Given the description of an element on the screen output the (x, y) to click on. 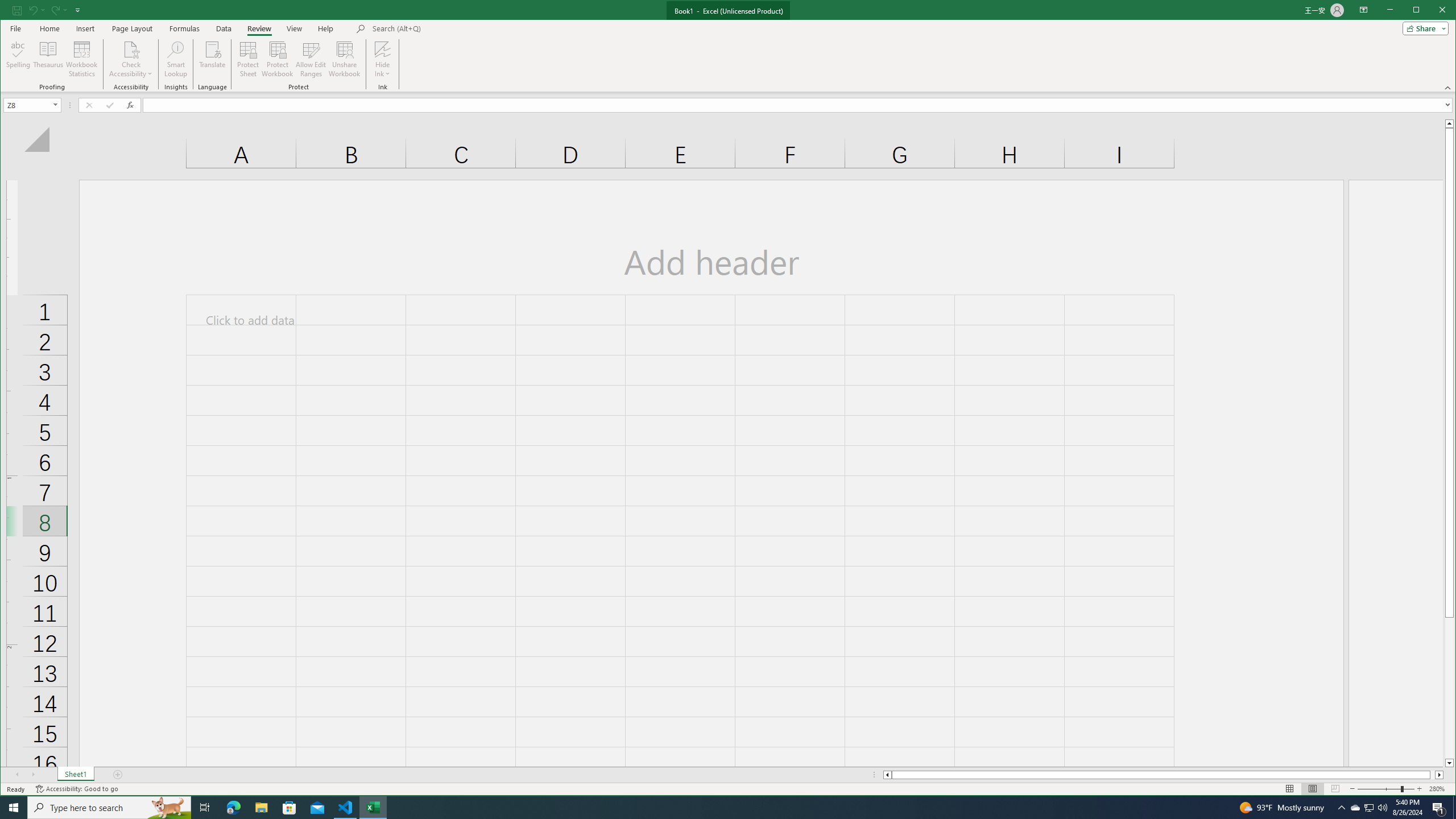
Unshare Workbook (344, 59)
Workbook Statistics (82, 59)
Allow Edit Ranges (310, 59)
